Given the description of an element on the screen output the (x, y) to click on. 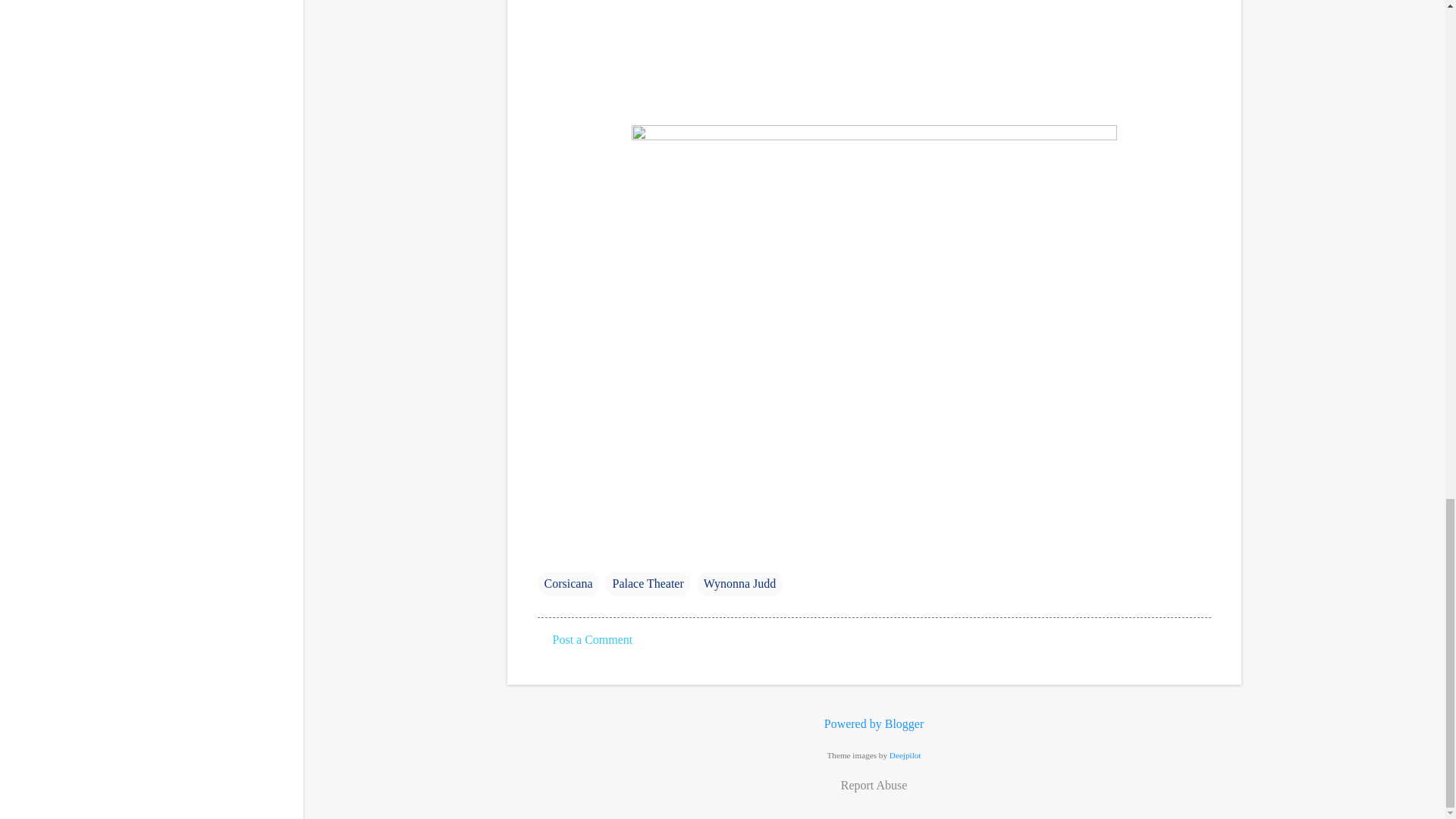
Deejpilot (905, 755)
Wynonna Judd (740, 583)
Email Post (545, 553)
Powered by Blogger (874, 723)
Palace Theater (647, 583)
Corsicana (567, 583)
Post a Comment (591, 639)
Report Abuse (874, 785)
